Given the description of an element on the screen output the (x, y) to click on. 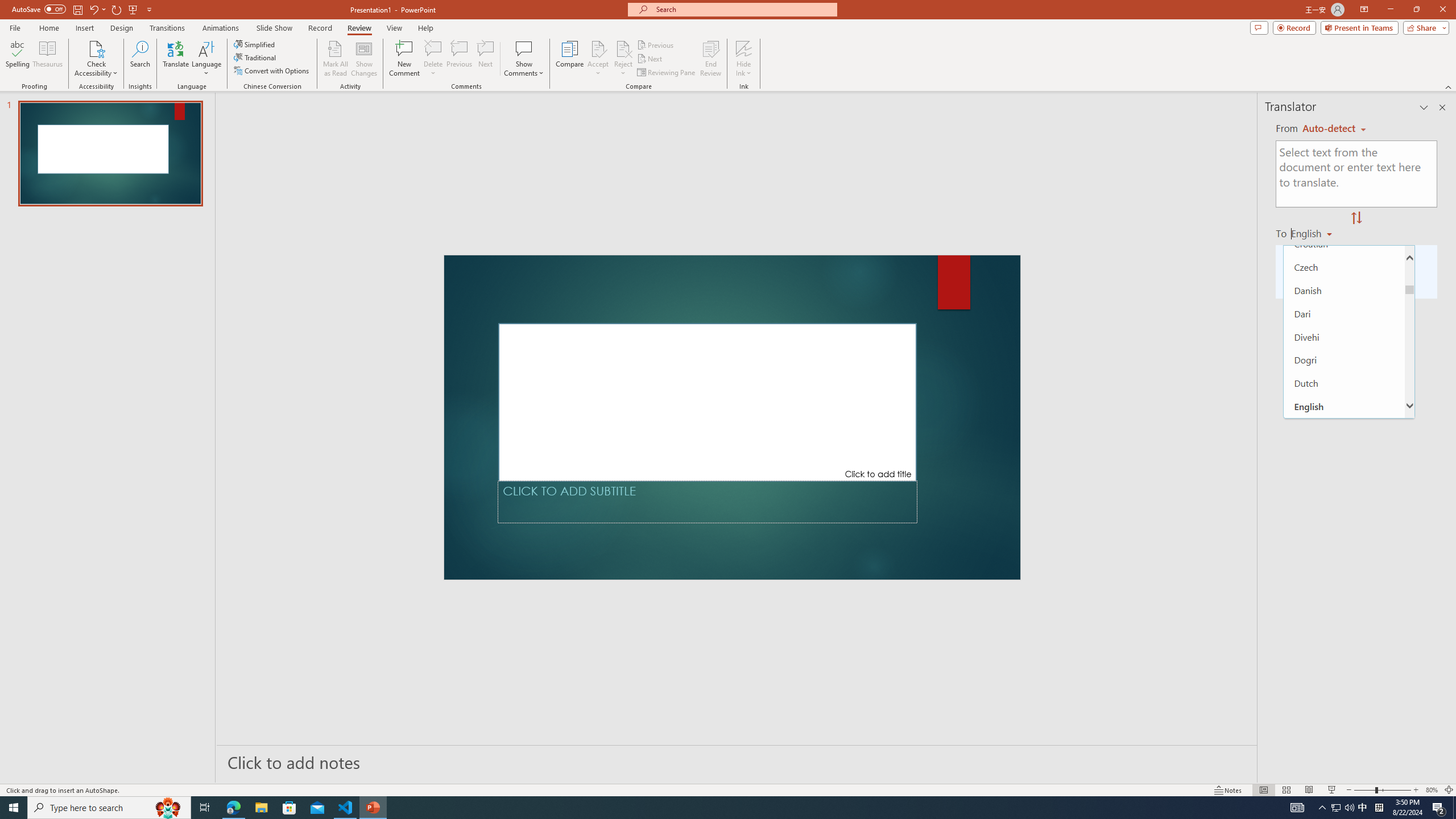
Georgian (1344, 639)
Traditional (255, 56)
Chinese (Literary) (1344, 173)
French (Canada) (1344, 569)
Gujarati (1344, 709)
Spelling... (17, 58)
Delete (432, 48)
French (1344, 545)
